Given the description of an element on the screen output the (x, y) to click on. 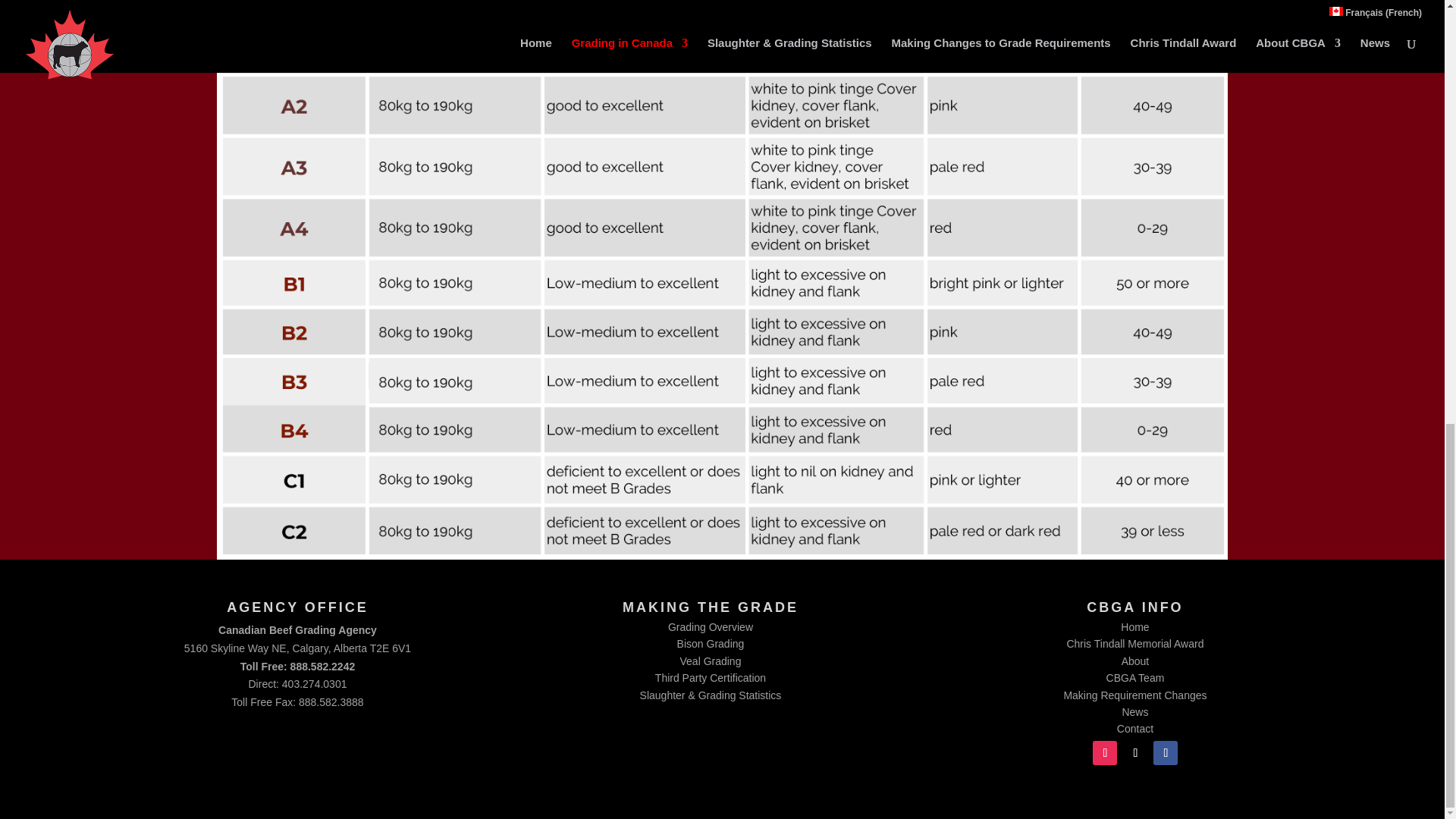
Home (1134, 626)
Making Requirement Changes (1134, 695)
Bison Grading (710, 644)
Veal Grading (710, 661)
Grading Overview (710, 626)
News (1134, 711)
Third Party Certification (710, 677)
About (1135, 661)
Follow on Instagram (1104, 752)
Follow on X (1134, 752)
CBGA Team (1135, 677)
Chris Tindall Memorial Award (1134, 644)
Follow on Facebook (1165, 752)
